Given the description of an element on the screen output the (x, y) to click on. 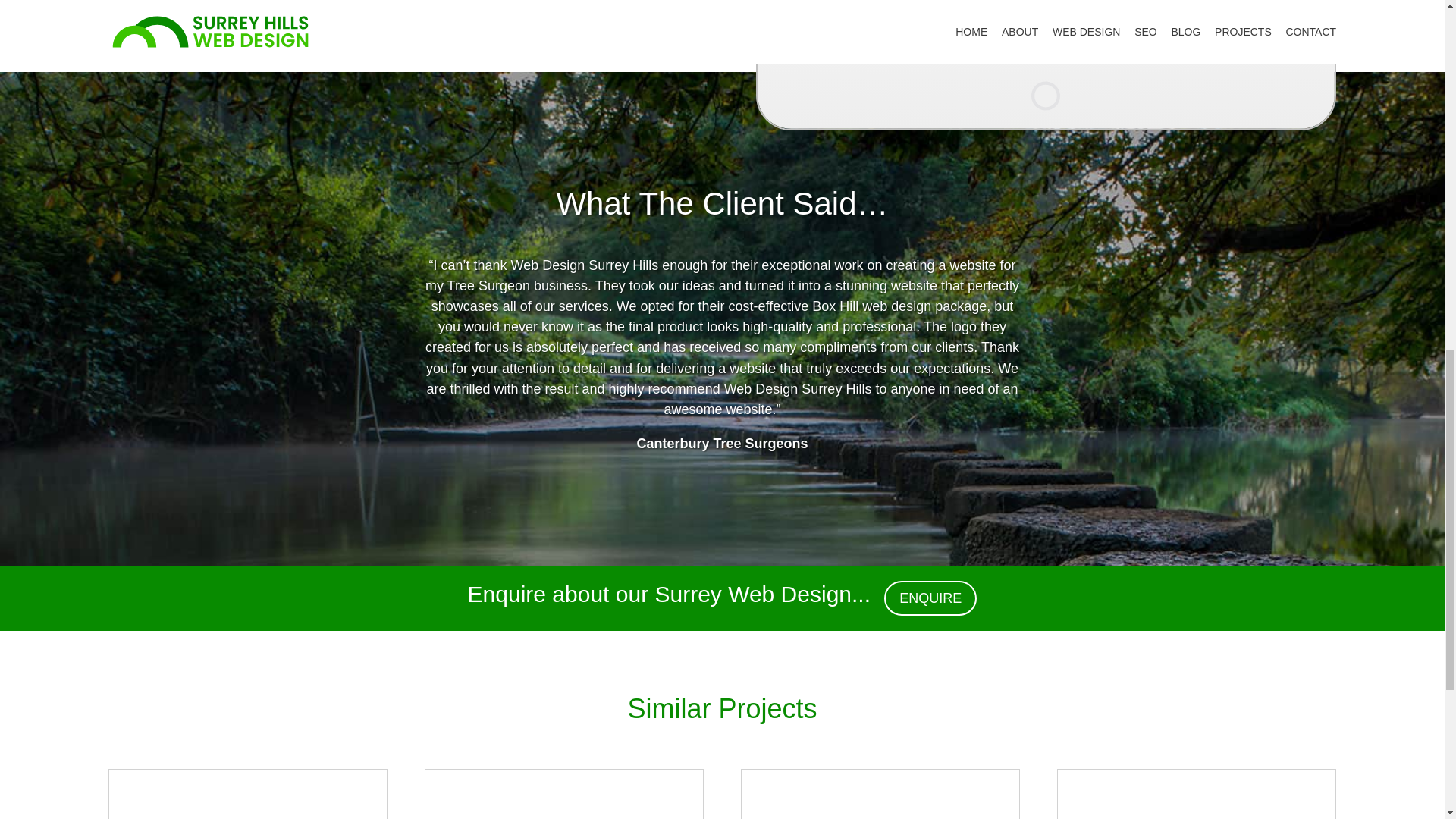
ENQUIRE (929, 597)
My Builder Essex (564, 794)
NVR Electrical (248, 794)
Pebble Dashing (1196, 794)
Grind My Stump (880, 794)
